Given the description of an element on the screen output the (x, y) to click on. 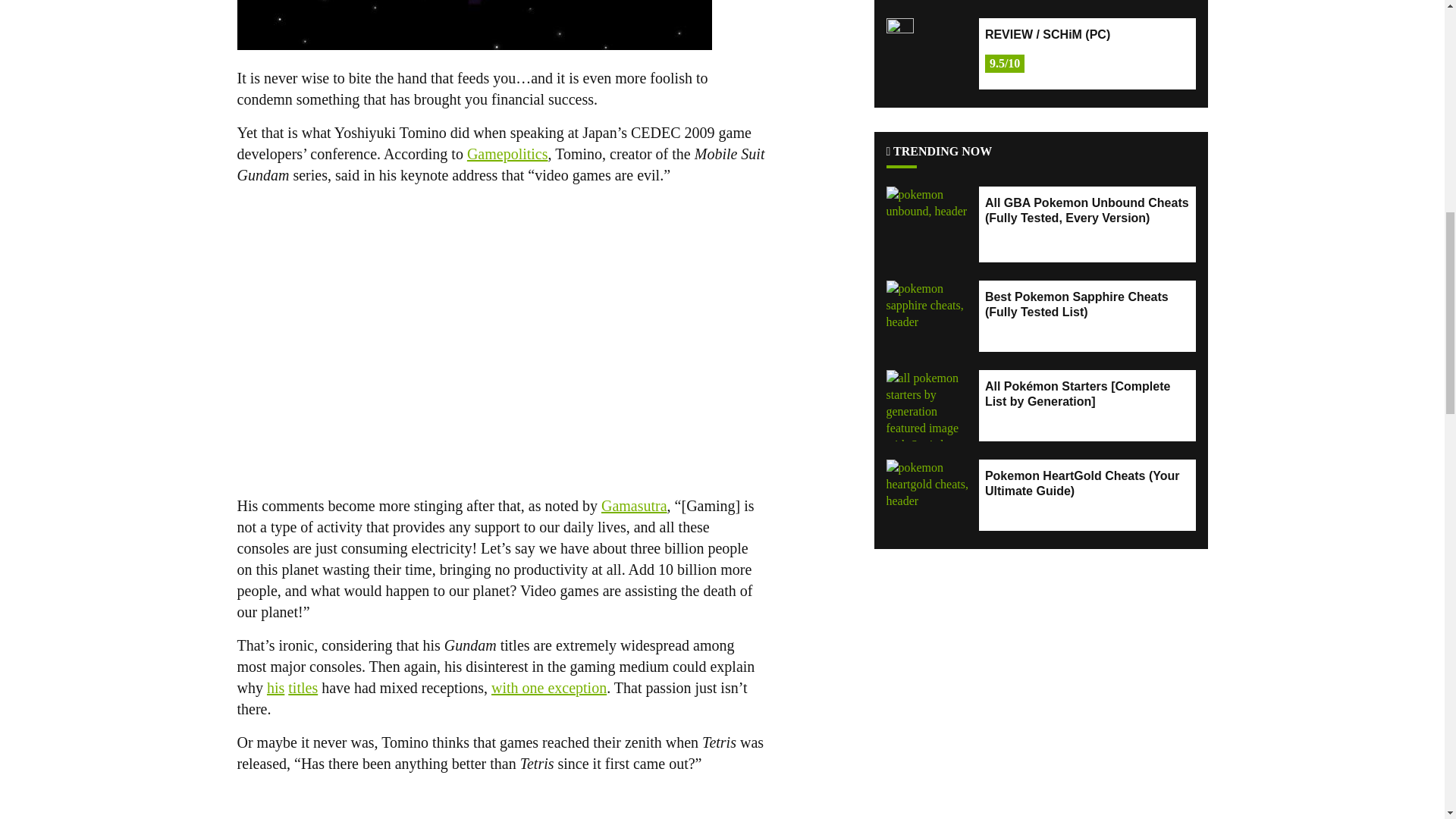
Scroll back to top (1406, 720)
